Given the description of an element on the screen output the (x, y) to click on. 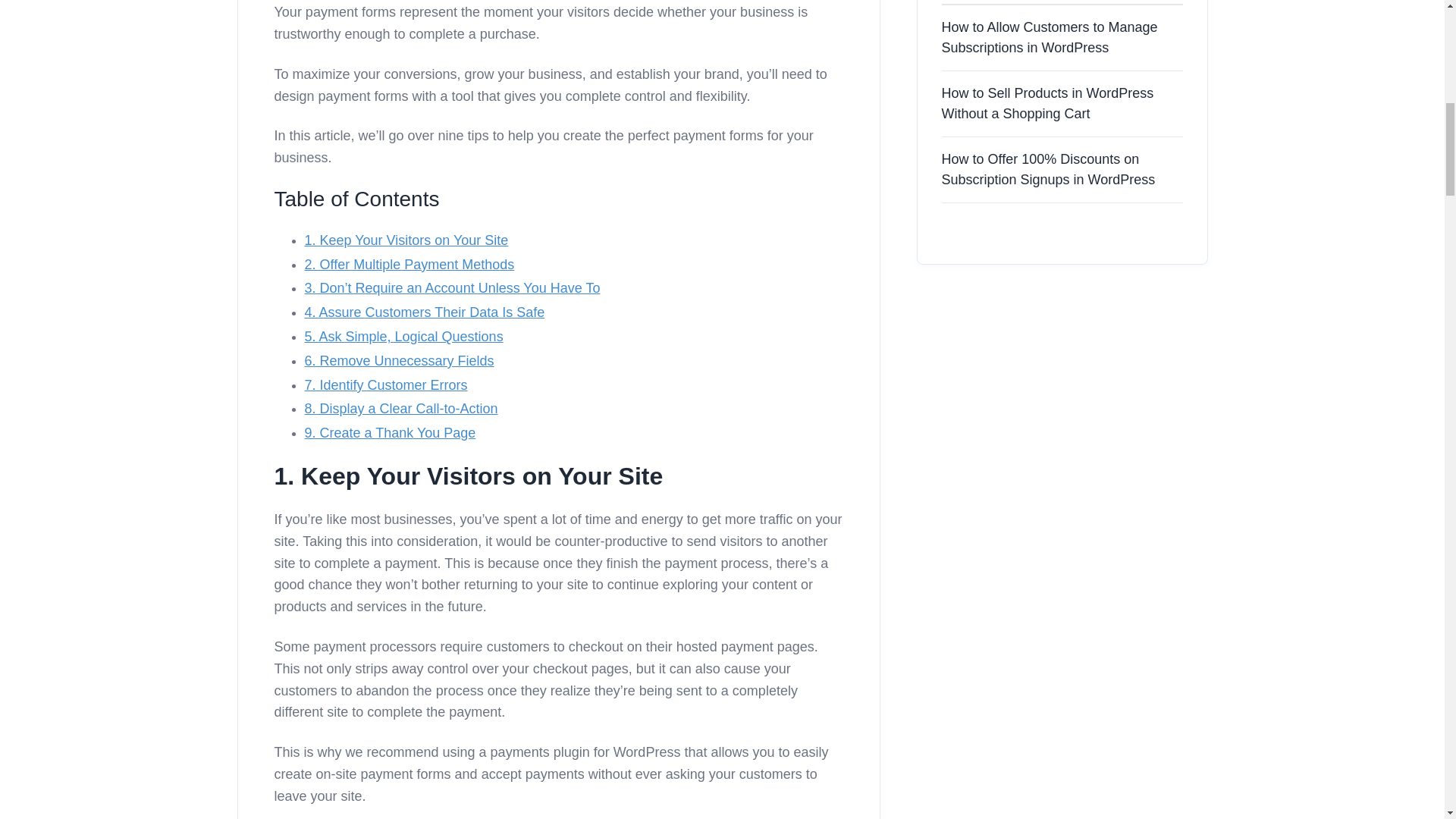
9. Create a Thank You Page (390, 432)
2. Offer Multiple Payment Methods (409, 264)
1. Keep Your Visitors on Your Site (406, 240)
6. Remove Unnecessary Fields (399, 360)
8. Display a Clear Call-to-Action (400, 408)
5. Ask Simple, Logical Questions (403, 336)
4. Assure Customers Their Data Is Safe (424, 312)
7. Identify Customer Errors (385, 385)
